Given the description of an element on the screen output the (x, y) to click on. 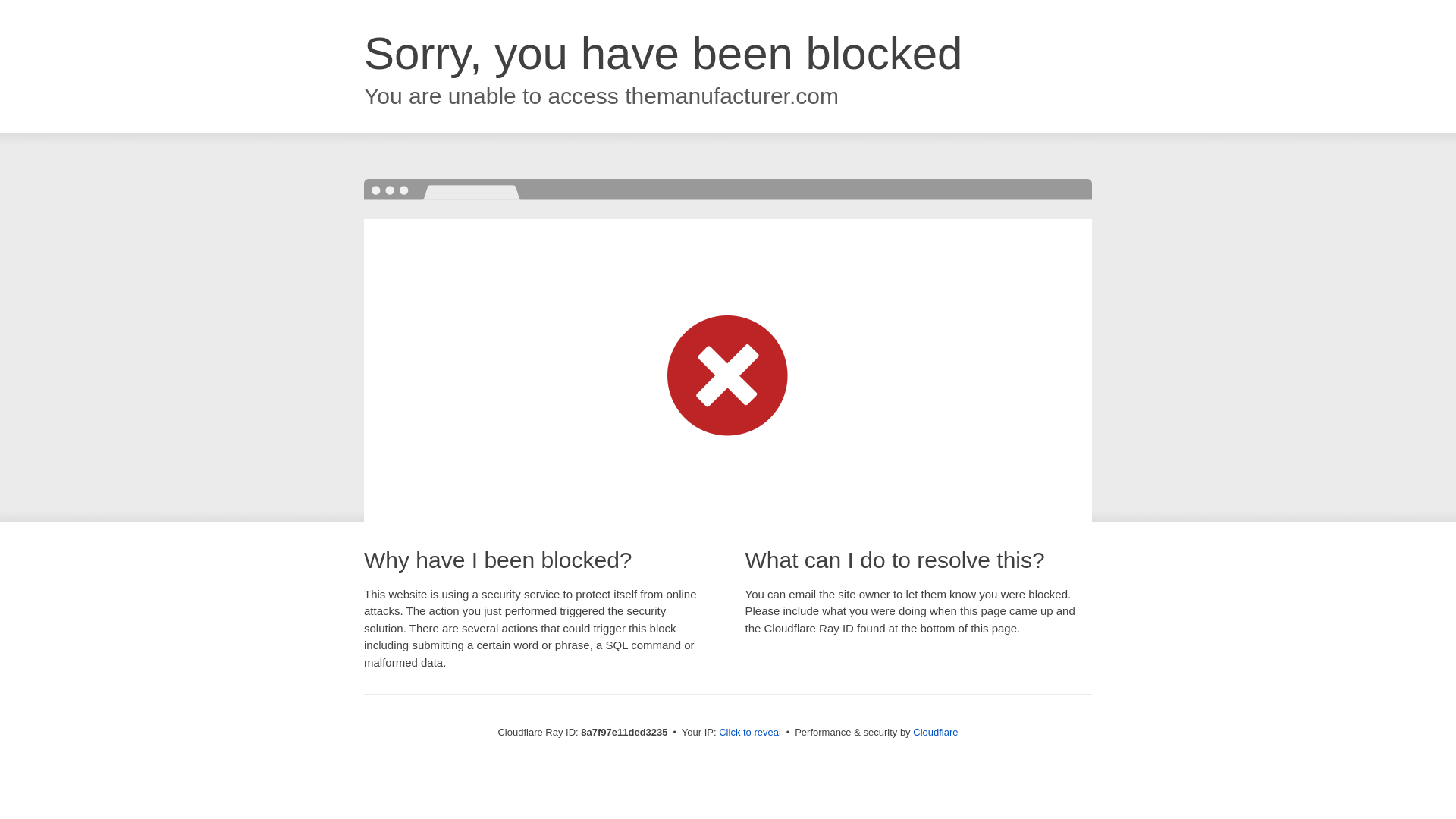
Cloudflare (935, 731)
Click to reveal (749, 732)
